Given the description of an element on the screen output the (x, y) to click on. 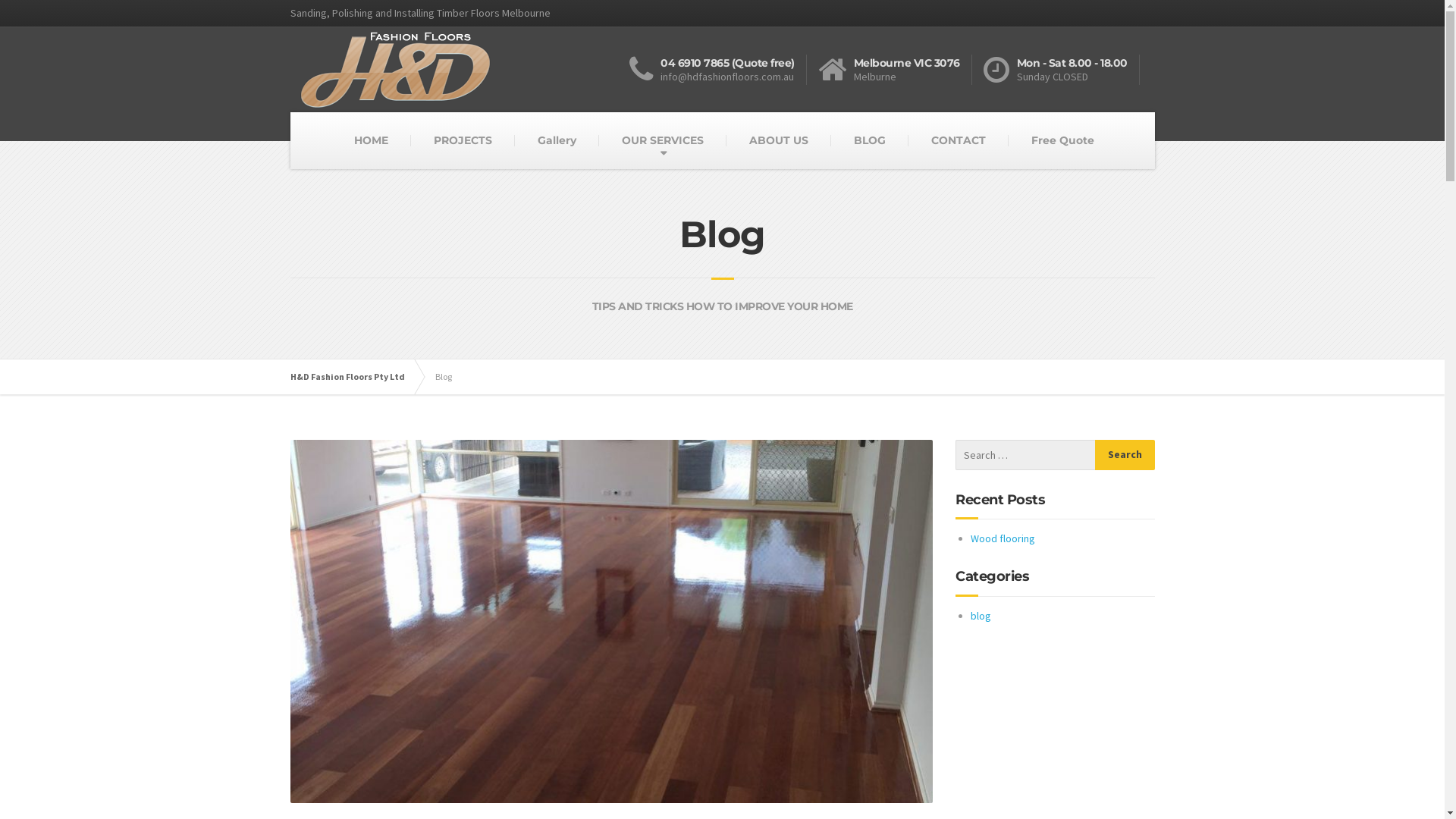
ABOUT US Element type: text (778, 140)
Wood flooring Element type: text (1002, 538)
BLOG Element type: text (869, 140)
OUR SERVICES Element type: text (662, 140)
HOME Element type: text (370, 140)
PROJECTS Element type: text (462, 140)
Gallery Element type: text (556, 140)
Search Element type: text (1124, 454)
blog Element type: text (980, 615)
04 6910 7865 (Quote free)
info@hdfashionfloors.com.au Element type: text (717, 69)
CONTACT Element type: text (958, 140)
Free Quote Element type: text (1062, 140)
H&D Fashion Floors Pty Ltd Element type: text (354, 376)
